Given the description of an element on the screen output the (x, y) to click on. 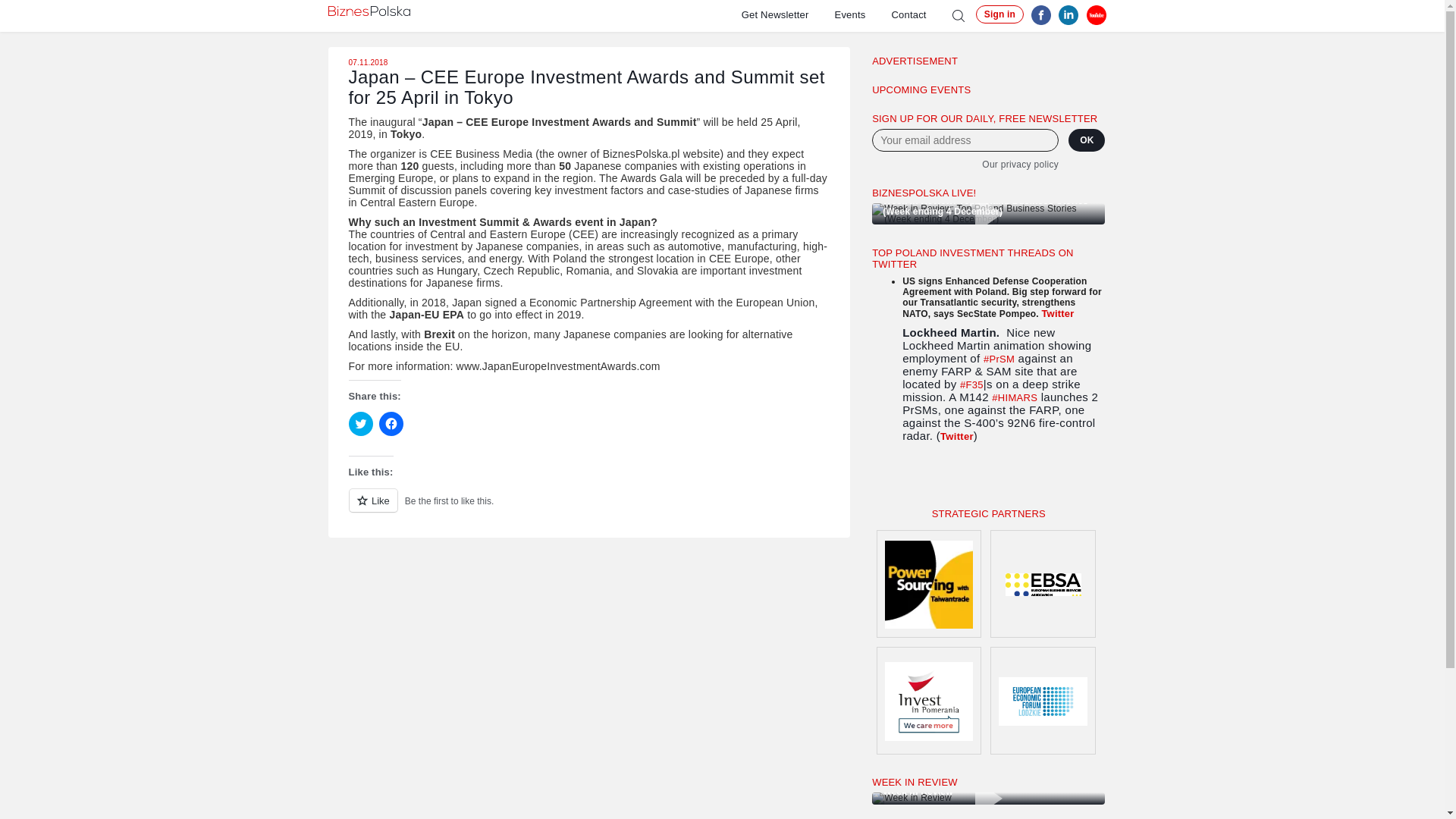
Twitter (1057, 313)
Get Newsletter (787, 14)
Like or Reblog (589, 508)
OK (1086, 139)
Click to share on Facebook (390, 423)
Contact (921, 14)
SIGN UP (911, 479)
Our privacy policy (965, 163)
OK (1086, 139)
Biznes Polska (368, 10)
Contact (921, 14)
Events (862, 14)
Events (862, 14)
Get Newsletter (787, 14)
Click to share on Twitter (360, 423)
